Given the description of an element on the screen output the (x, y) to click on. 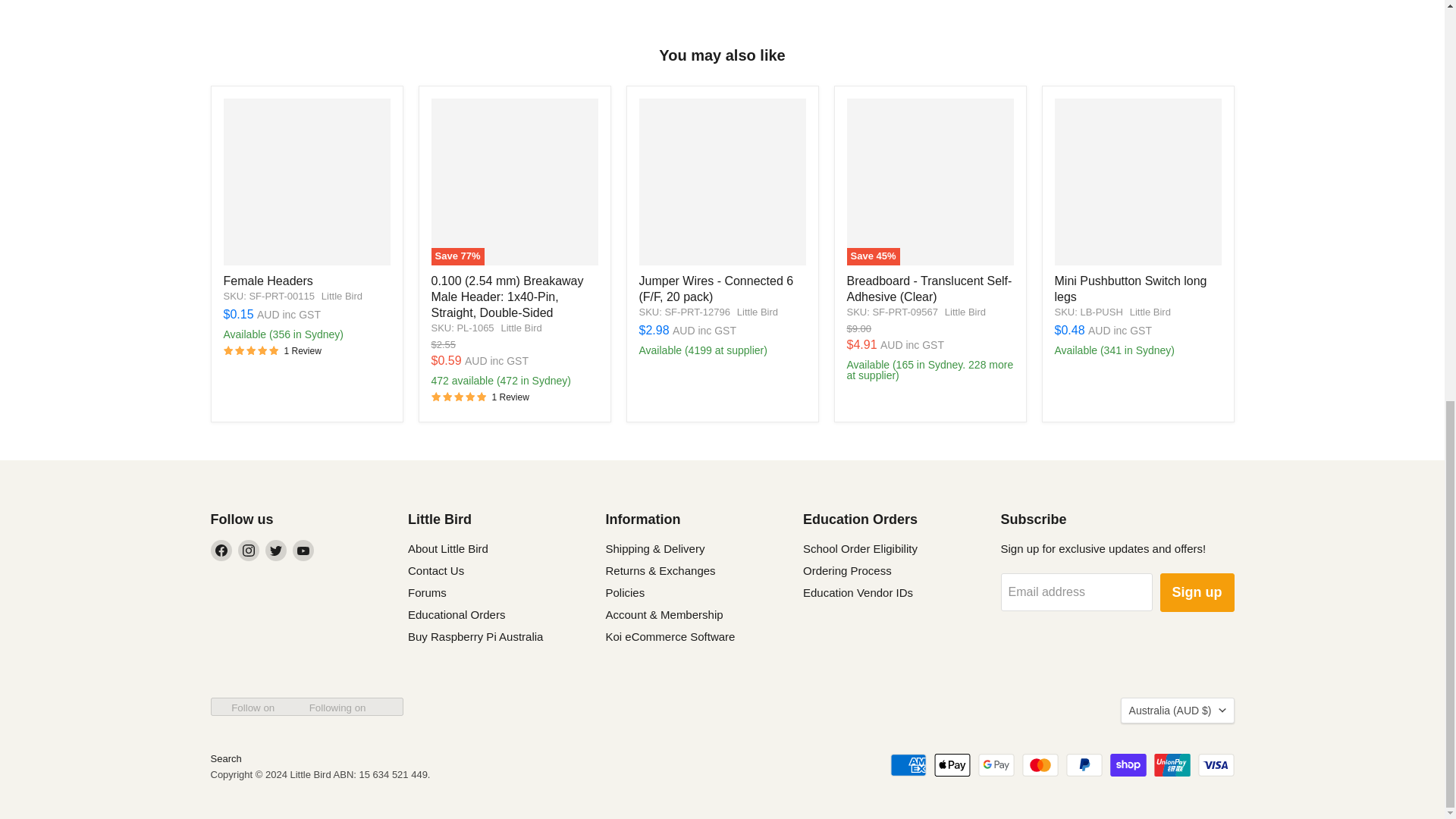
Little Bird (964, 311)
Little Bird (341, 296)
Little Bird (756, 311)
Little Bird (520, 327)
Little Bird (1149, 311)
YouTube (303, 550)
Instagram (248, 550)
Facebook (221, 550)
Twitter (275, 550)
